Given the description of an element on the screen output the (x, y) to click on. 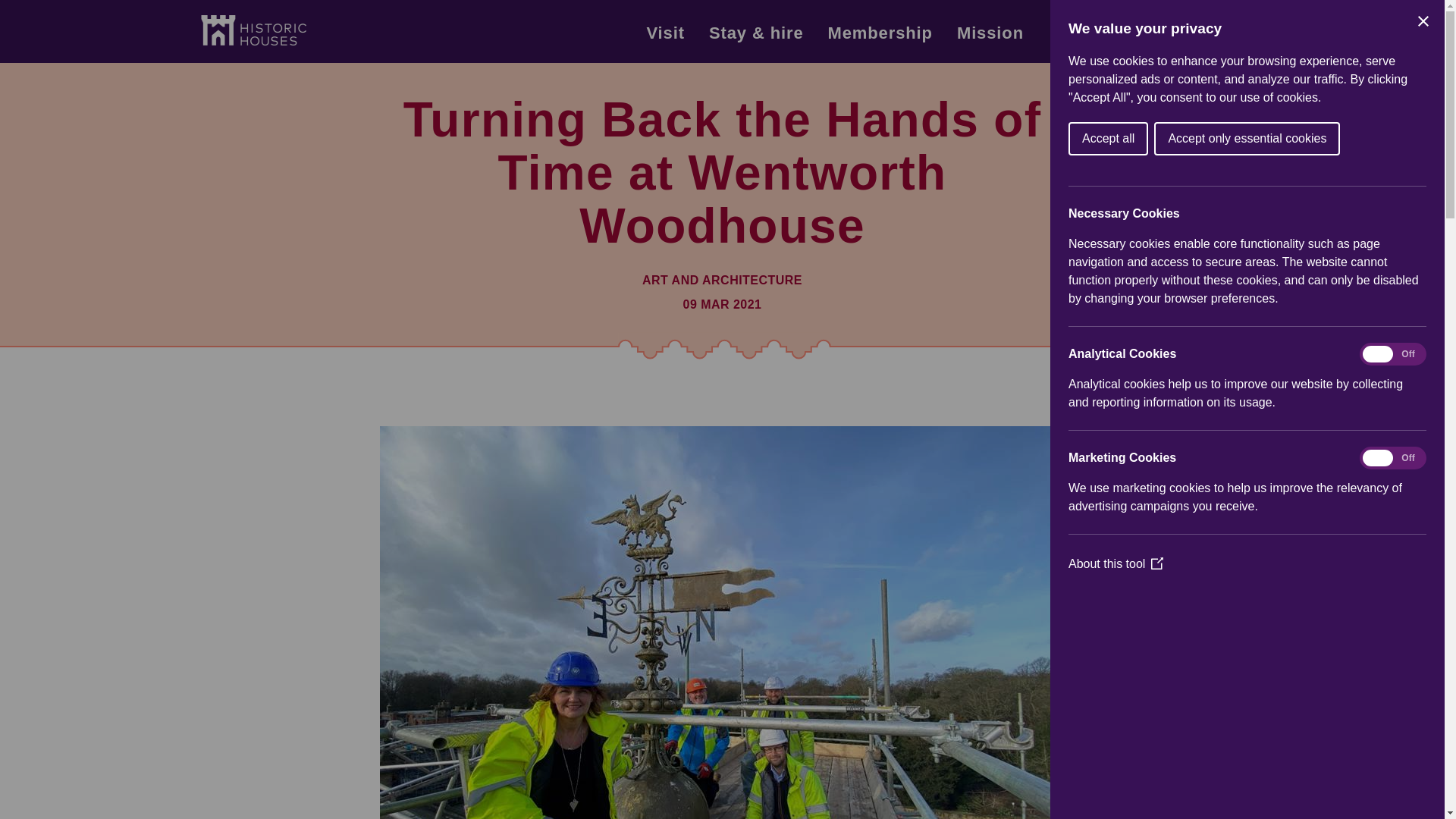
Accept all (1414, 138)
Membership (880, 39)
Historic Houses (252, 30)
Accept only essential cookies (1421, 138)
Mission (989, 39)
